Given the description of an element on the screen output the (x, y) to click on. 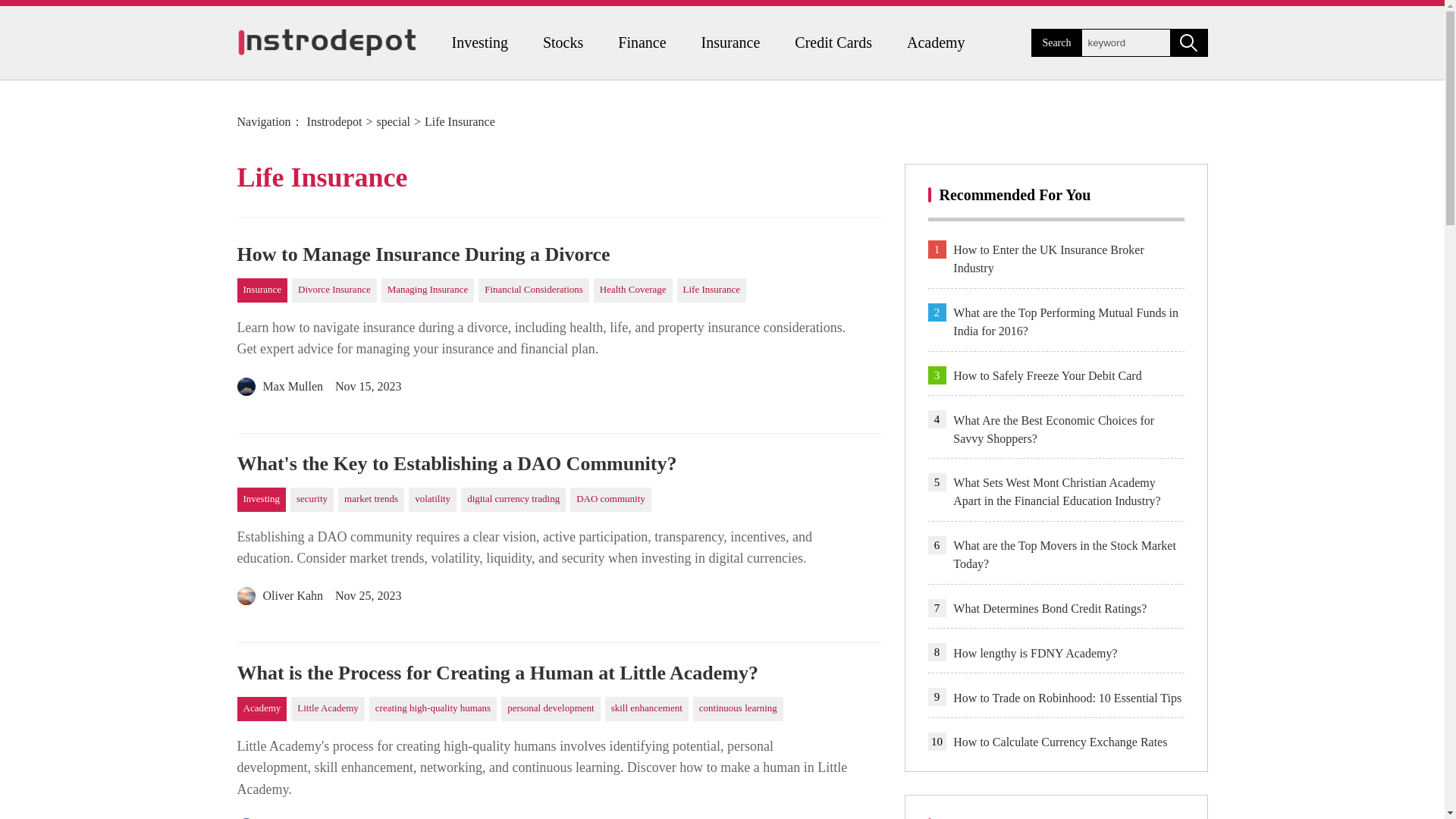
Search (1056, 42)
Managing Insurance (427, 290)
Financial Considerations (534, 290)
keyword (1125, 42)
DAO community (610, 499)
How to Manage Insurance During a Divorce (557, 254)
Insurance (730, 42)
volatility (433, 499)
Life Insurance (711, 290)
Instrodepot (334, 121)
Grace Helbig (281, 816)
Health Coverage (633, 290)
continuous learning (738, 708)
special (392, 121)
Search (1188, 42)
